Given the description of an element on the screen output the (x, y) to click on. 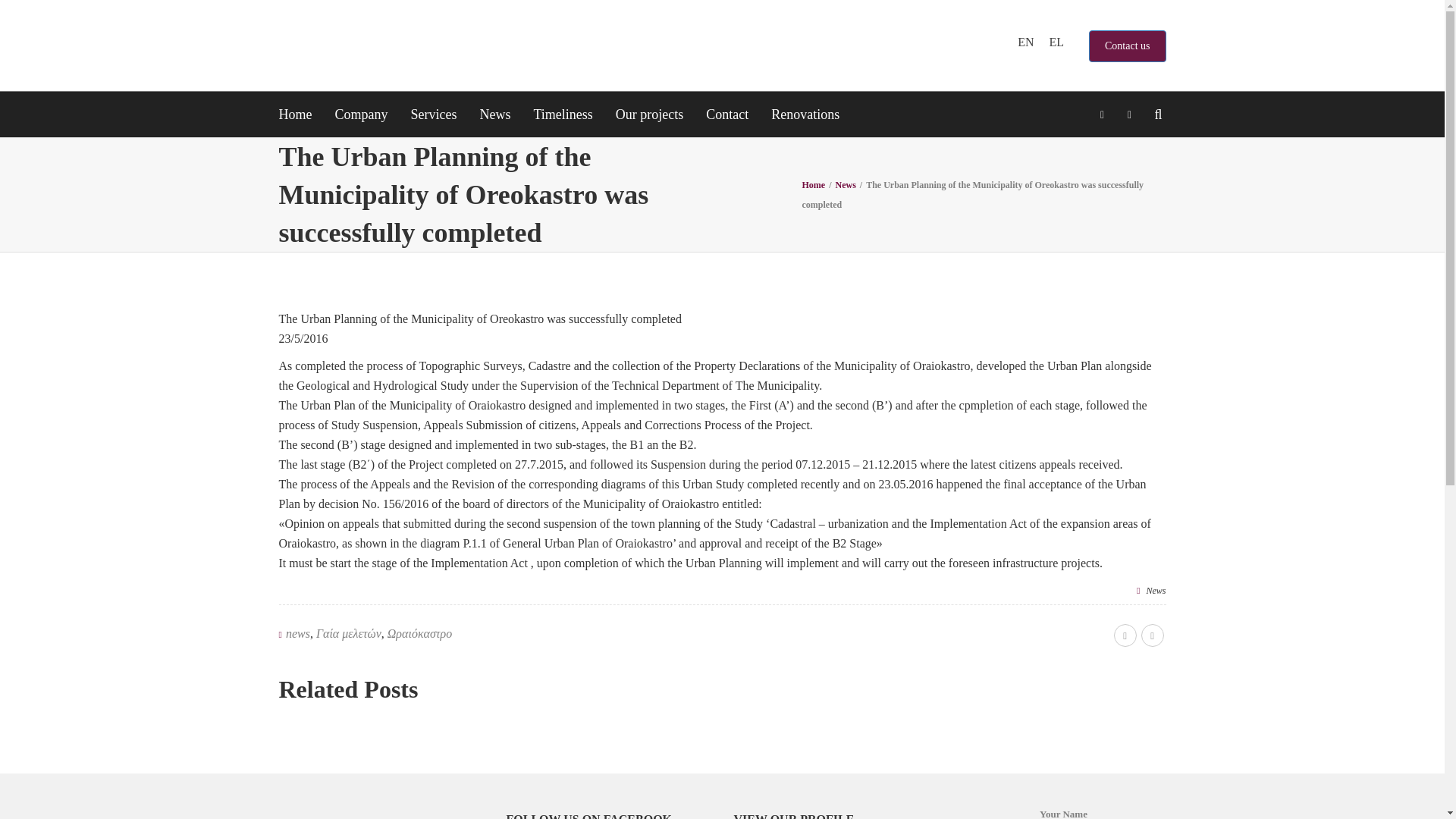
Services (432, 114)
Our projects (649, 114)
EL (1056, 42)
Renovations (805, 114)
Home (301, 114)
EN (1025, 42)
News (494, 114)
Home (301, 114)
Company (360, 114)
Company (360, 114)
Services (432, 114)
Contact (727, 114)
Contact us (1127, 46)
Timeliness (562, 114)
